Given the description of an element on the screen output the (x, y) to click on. 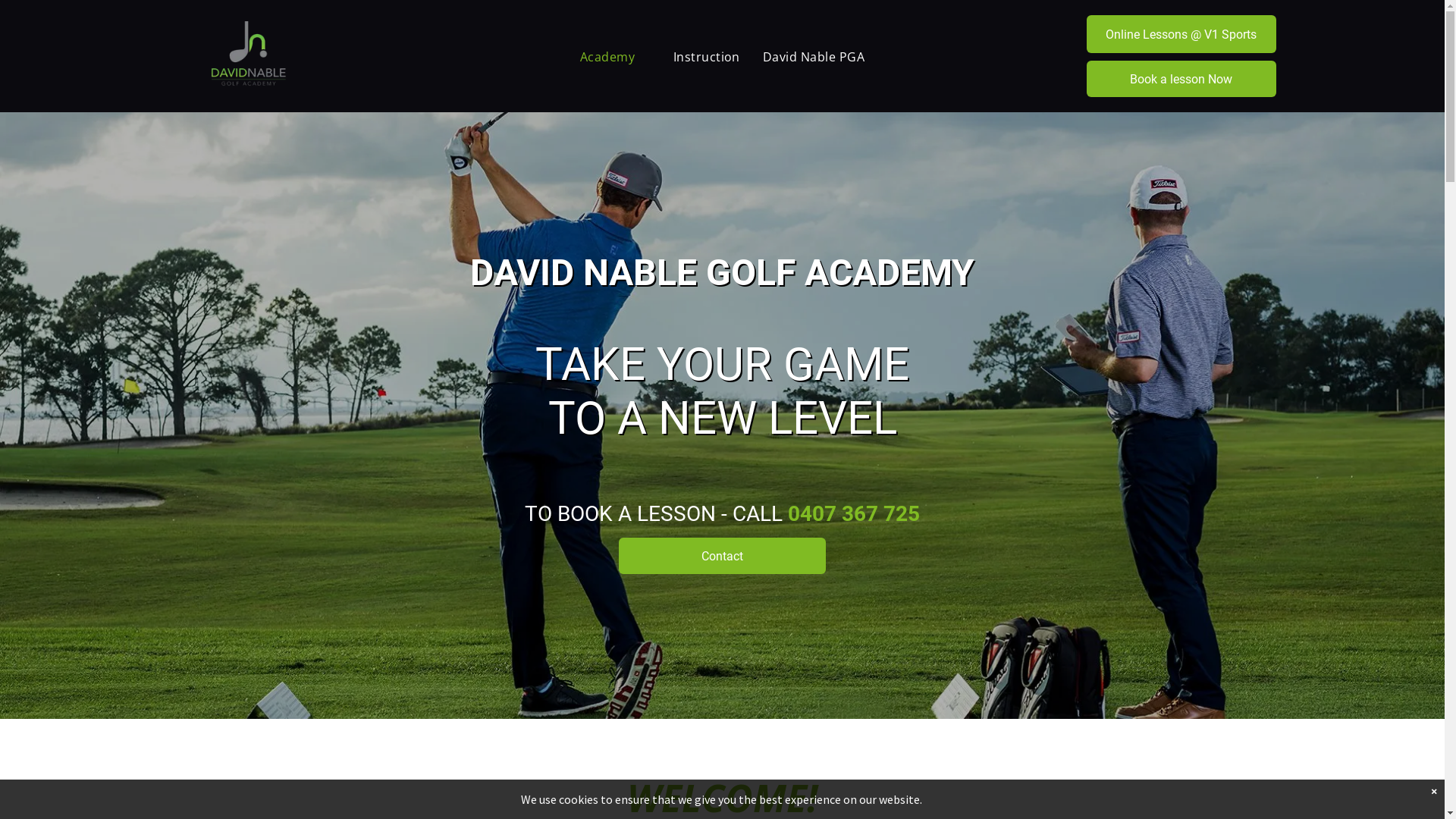
Academy Element type: text (615, 56)
Instruction Element type: text (706, 56)
David Nable PGA Element type: text (813, 56)
Contact Element type: text (721, 555)
Book a lesson Now Element type: text (1181, 78)
Online Lessons @ V1 Sports Element type: text (1181, 34)
0407 367 725 Element type: text (853, 513)
